Given the description of an element on the screen output the (x, y) to click on. 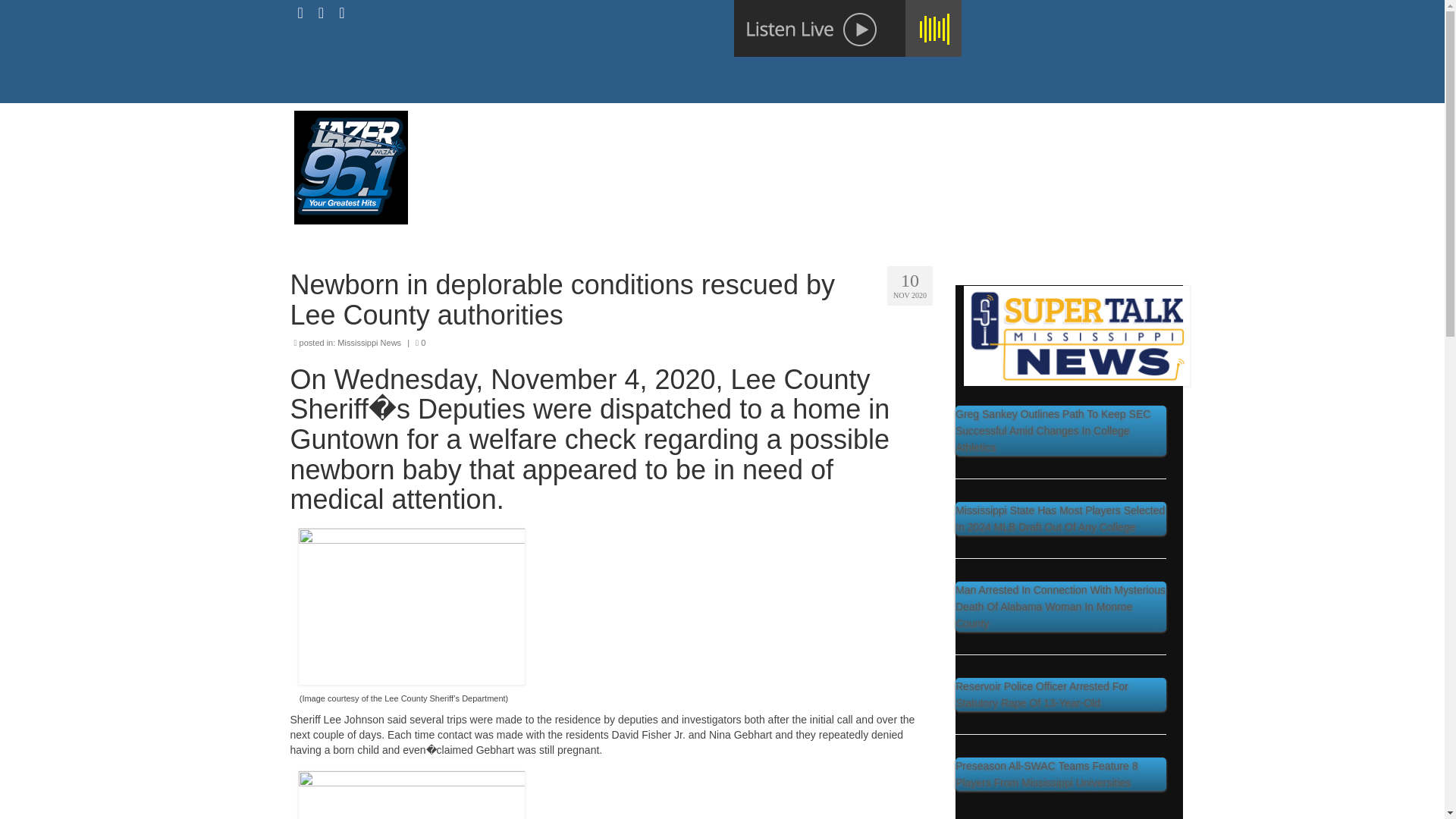
Mississippi News (369, 342)
OUR STATIONS (723, 125)
PUBLIC INSPECTION FILE (798, 155)
ABOUT US (626, 125)
CAREERS (817, 125)
Listen Live (846, 28)
TERMS OF USE (1035, 125)
CONTEST RULES (647, 155)
PRIVACY POLICY (918, 125)
